Given the description of an element on the screen output the (x, y) to click on. 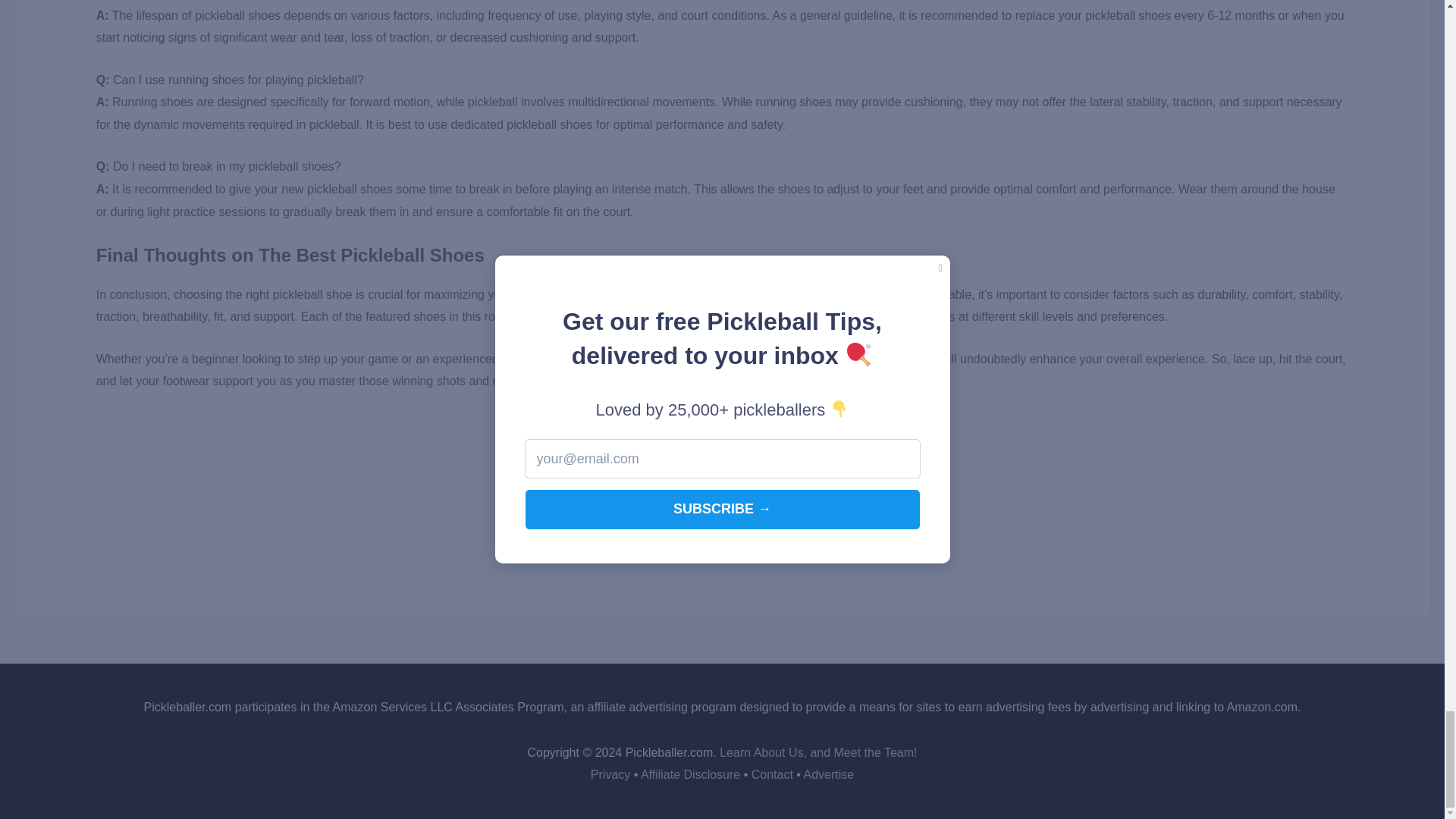
Affiliate Disclosure (689, 774)
Contact (772, 774)
Back to Our Top Pickleball Shoe Picks for 2024 (722, 432)
Privacy (610, 774)
Learn About Us, and Meet the Team! (818, 752)
Shop Our Top Choice: ASICS Men's Gel-RENMA Pickleball Shoe (722, 517)
